Given the description of an element on the screen output the (x, y) to click on. 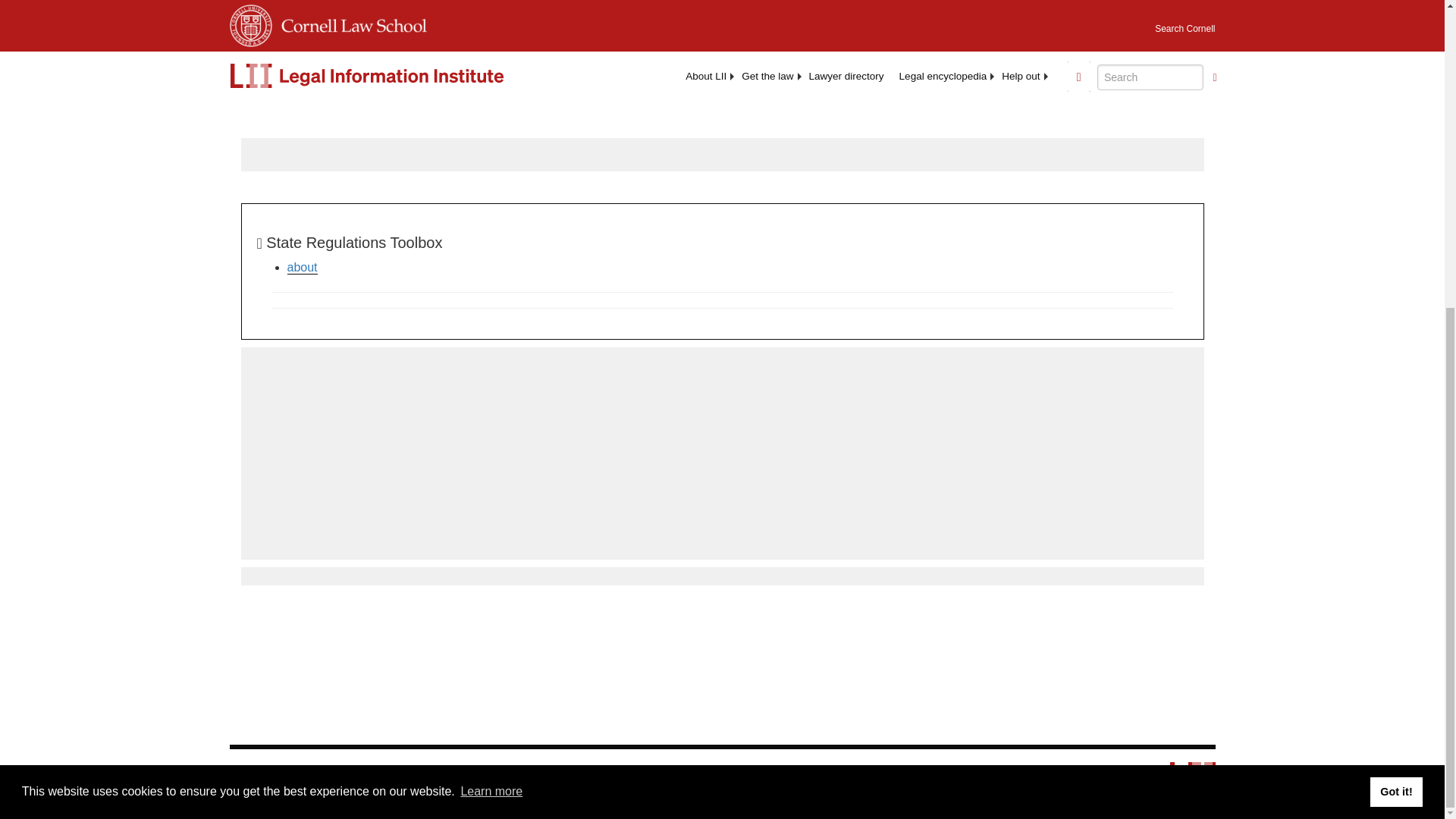
3rd party ad content (721, 453)
Learn more (491, 305)
Got it! (1396, 306)
